Given the description of an element on the screen output the (x, y) to click on. 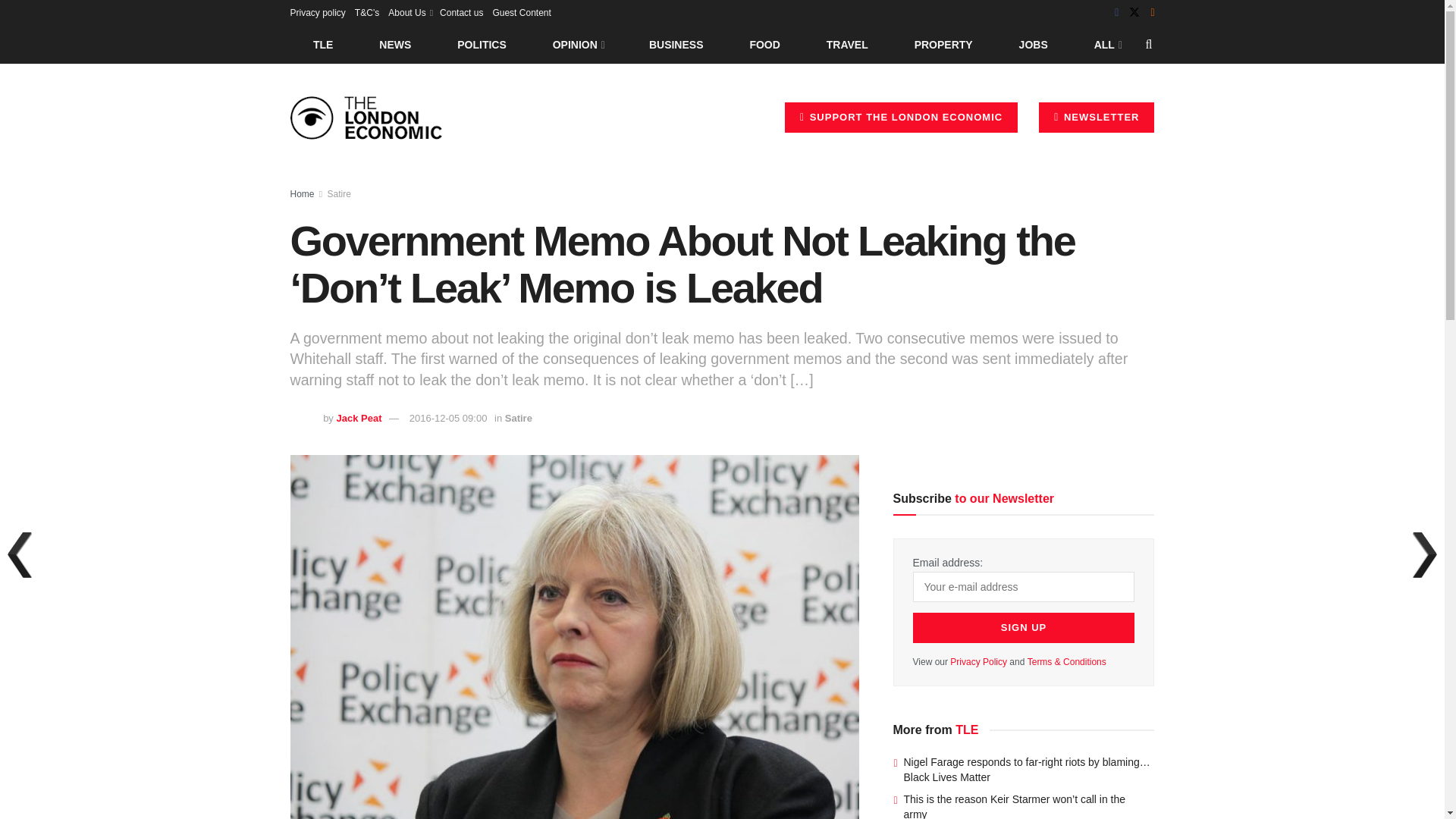
Home (301, 194)
NEWSLETTER (1096, 117)
Contact us (461, 12)
FOOD (764, 44)
About Us (409, 12)
ALL (1106, 44)
BUSINESS (676, 44)
PROPERTY (943, 44)
Sign up (1023, 627)
NEWS (394, 44)
